Given the description of an element on the screen output the (x, y) to click on. 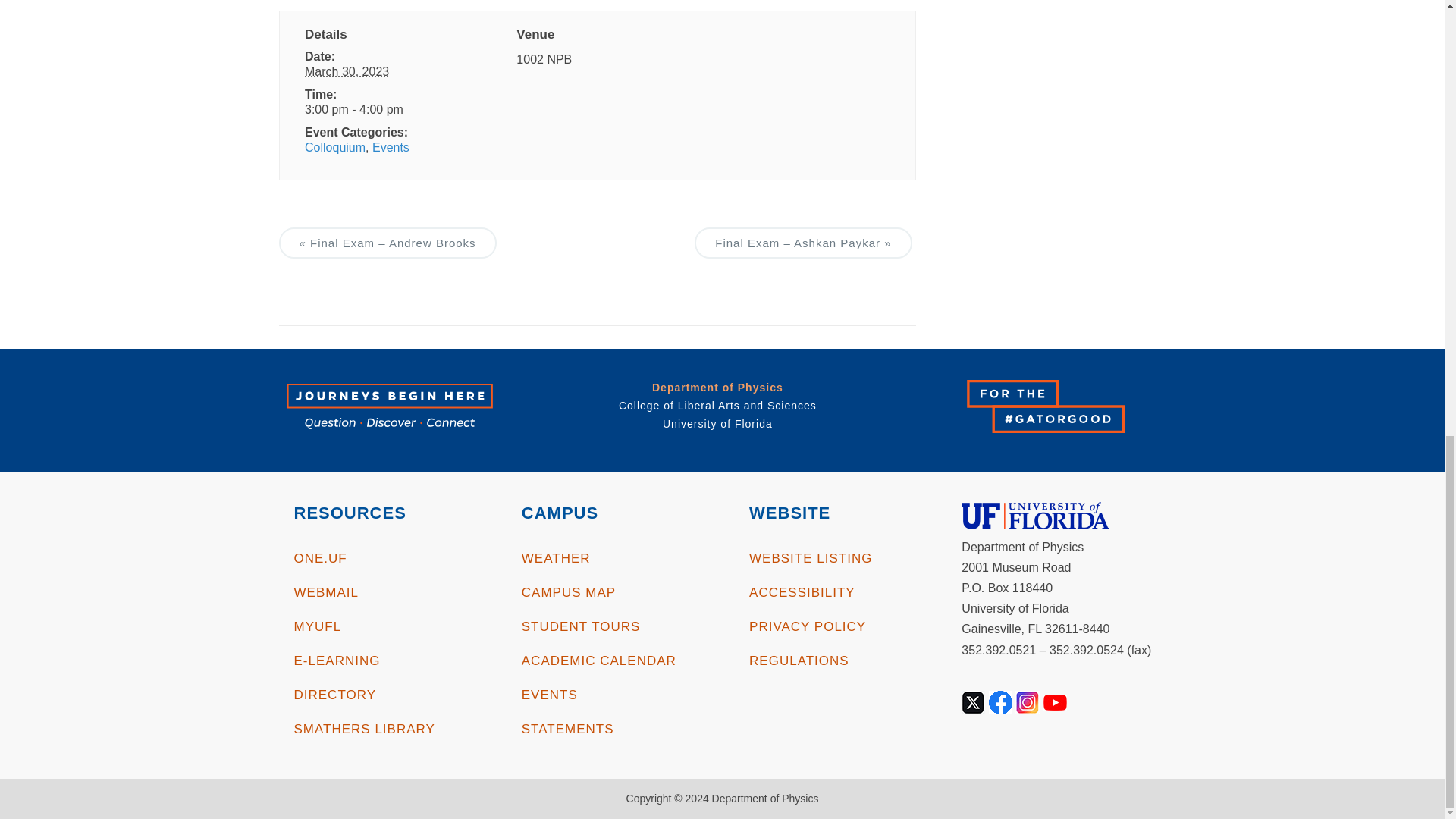
2023-03-30 (384, 109)
2023-03-30 (346, 71)
